Given the description of an element on the screen output the (x, y) to click on. 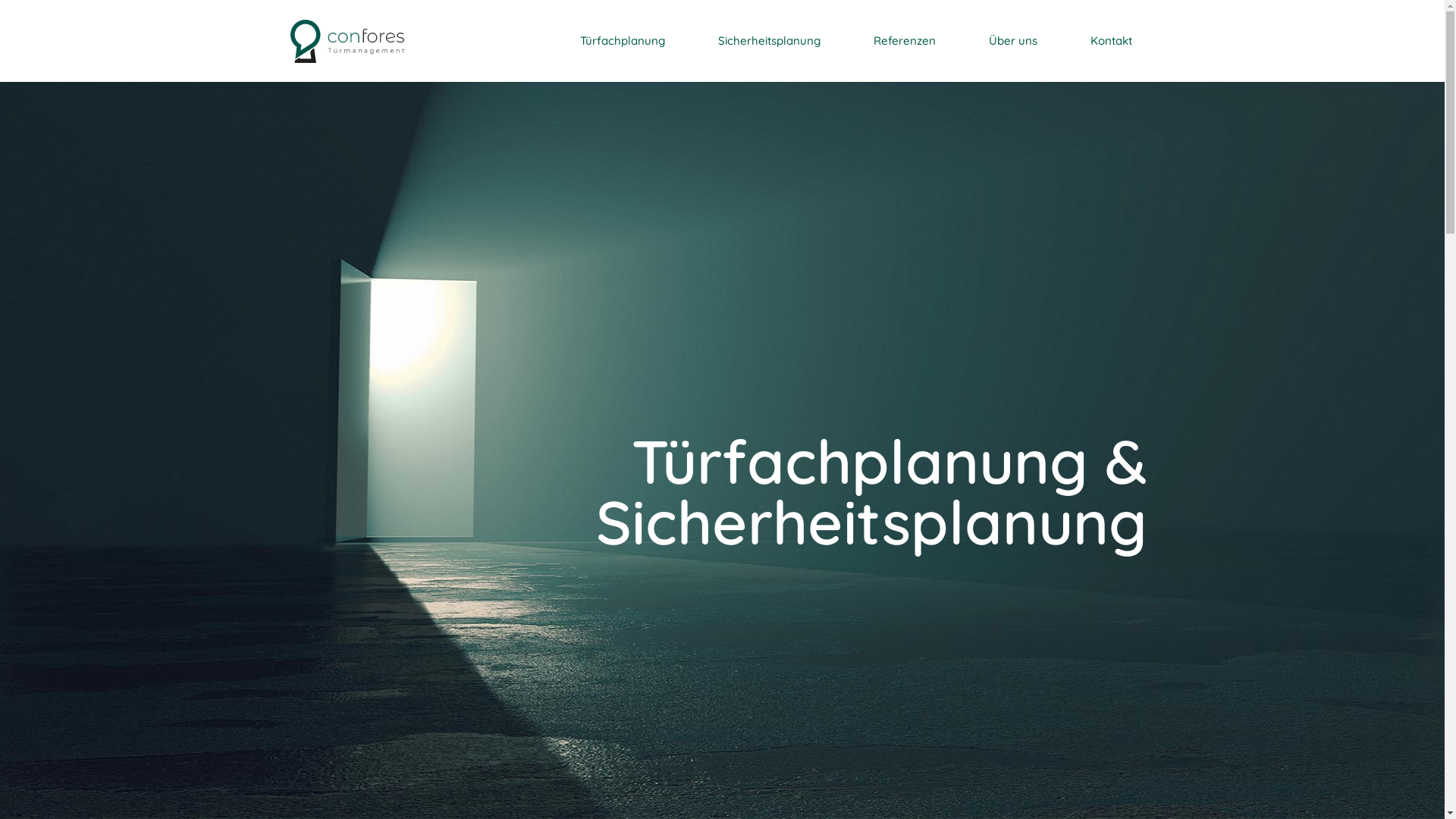
Sicherheitsplanung Element type: text (768, 40)
Kontakt Element type: text (1110, 40)
Referenzen Element type: text (904, 40)
